Given the description of an element on the screen output the (x, y) to click on. 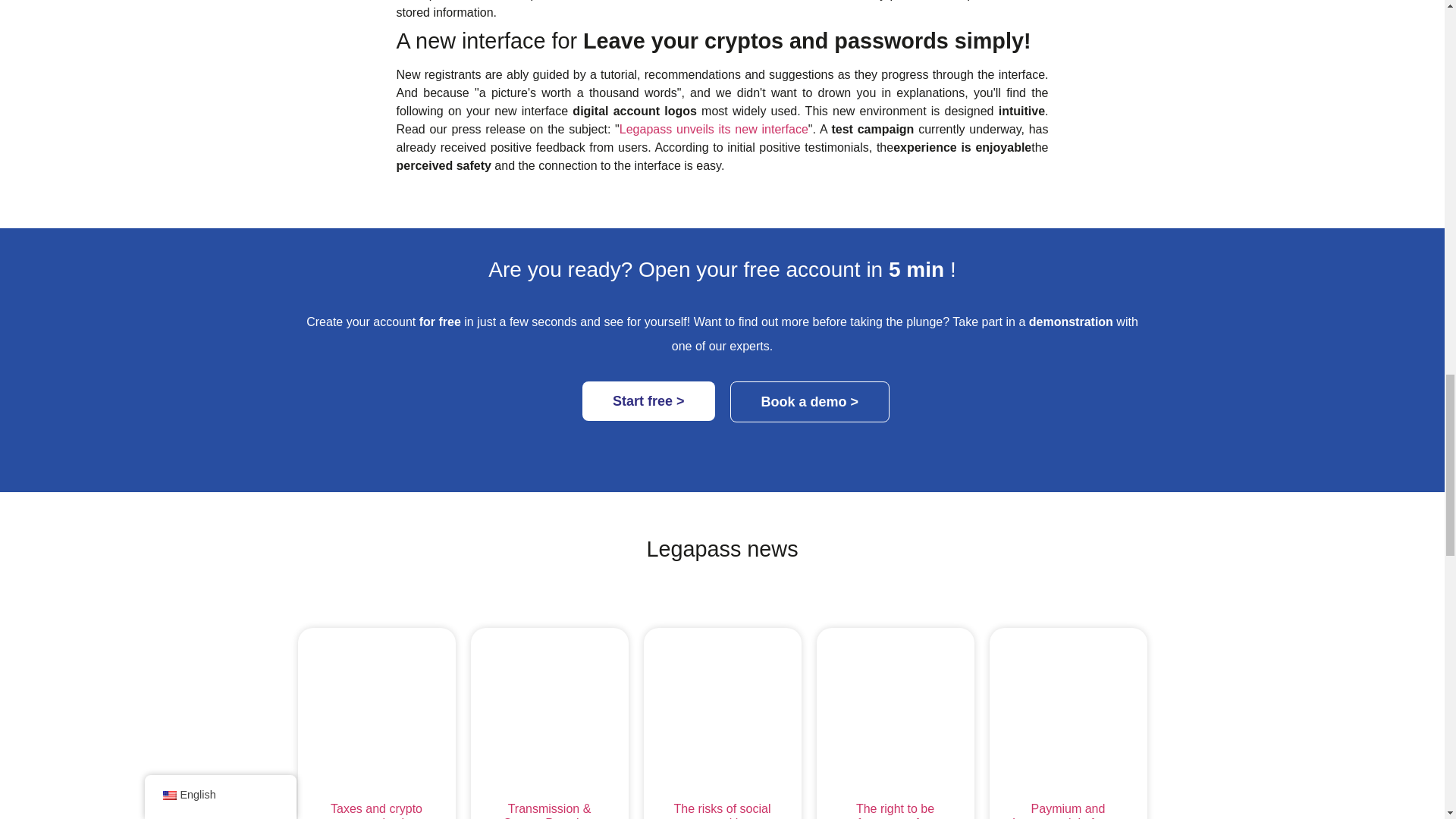
The risks of social networking (721, 810)
Legapass unveils its new interface (714, 128)
